Given the description of an element on the screen output the (x, y) to click on. 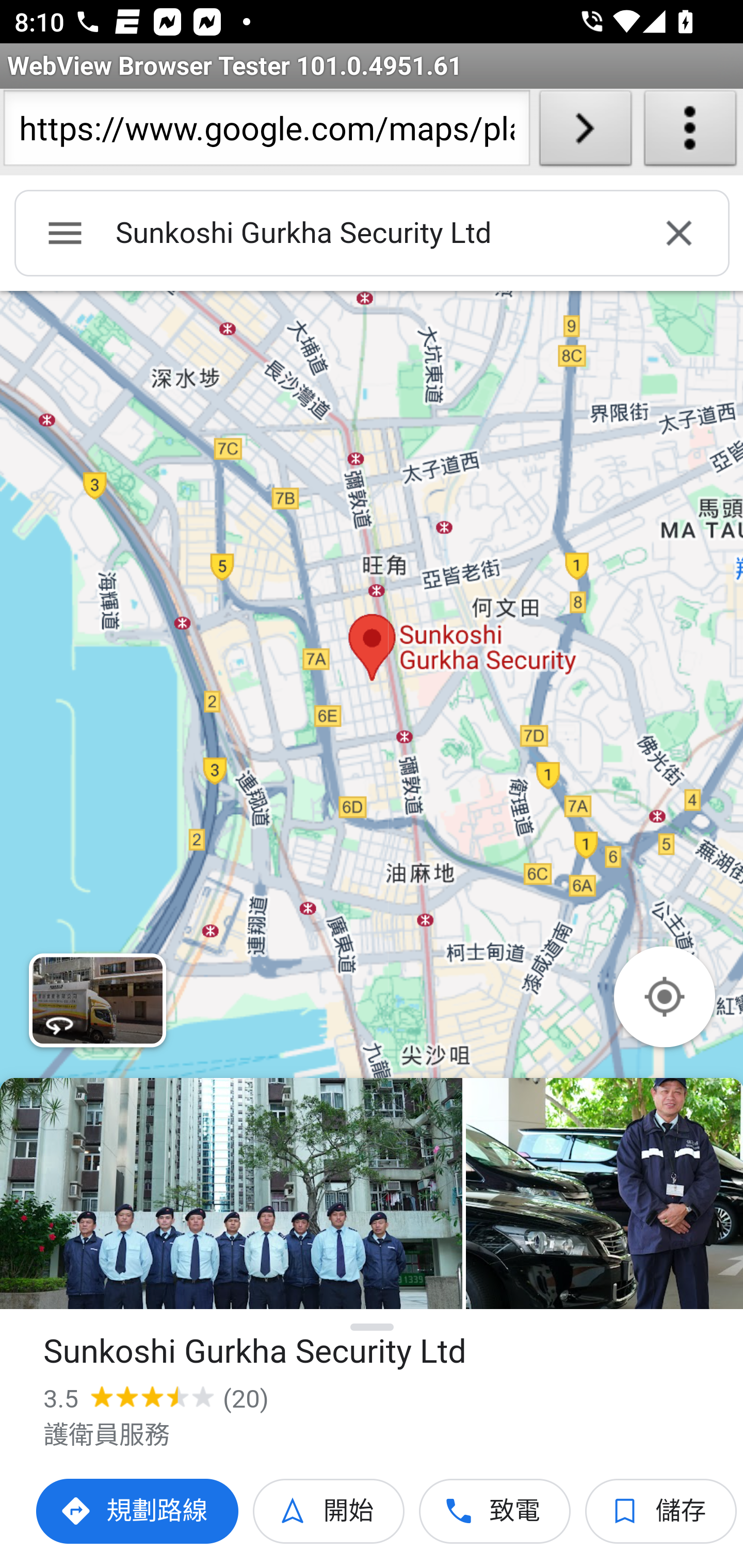
Load URL (585, 132)
About WebView (690, 132)
第 1 張相片 (共 10 張) (231, 1193)
第 2 張相片 (共 10 張) (604, 1193)
顯示詳細資料 (372, 1327)
前往Sunkoshi Gurkha Security Ltd的路線 (137, 1511)
開始 (329, 1511)
致電「Sunkoshi Gurkha Security Ltd」  致電 (495, 1511)
將「Sunkoshi Gurkha Security Ltd」儲存至清單中 (661, 1511)
